Given the description of an element on the screen output the (x, y) to click on. 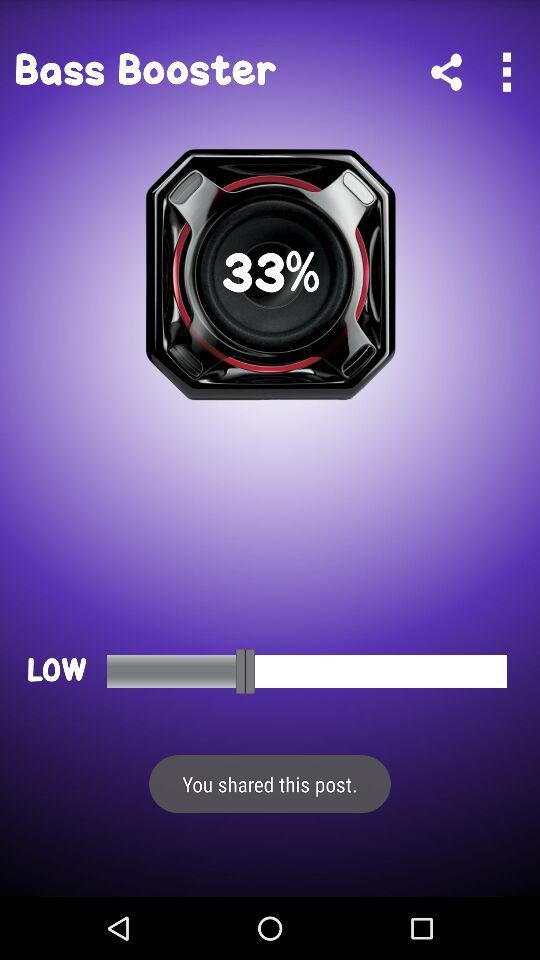
go to settings (506, 72)
